Given the description of an element on the screen output the (x, y) to click on. 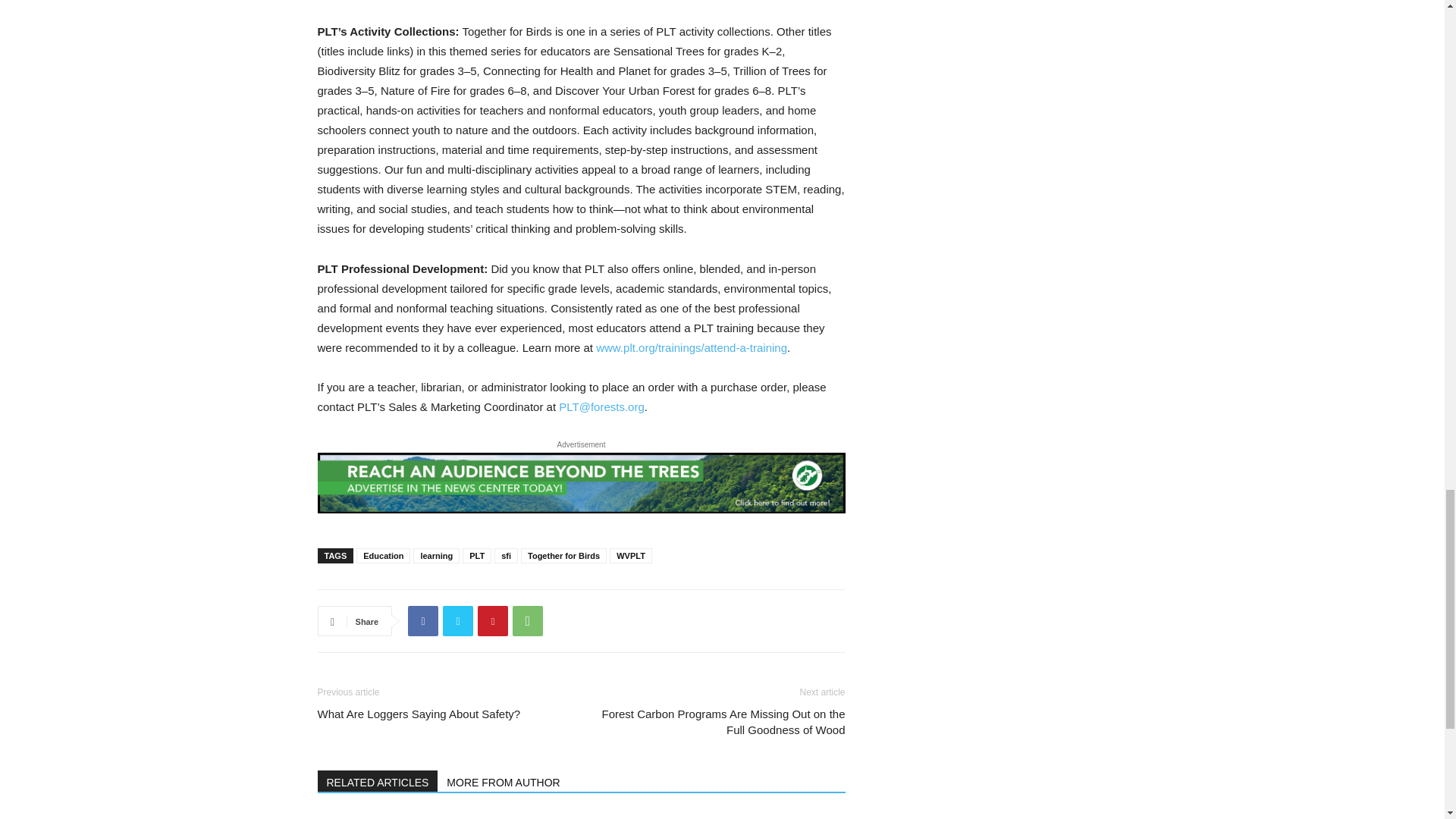
Twitter (457, 621)
WhatsApp (527, 621)
Facebook (422, 621)
Biodiversity in West Virginia Fiber Sourcing (399, 816)
Pinterest (492, 621)
SFI is Growing in West Virginia (580, 816)
